Given the description of an element on the screen output the (x, y) to click on. 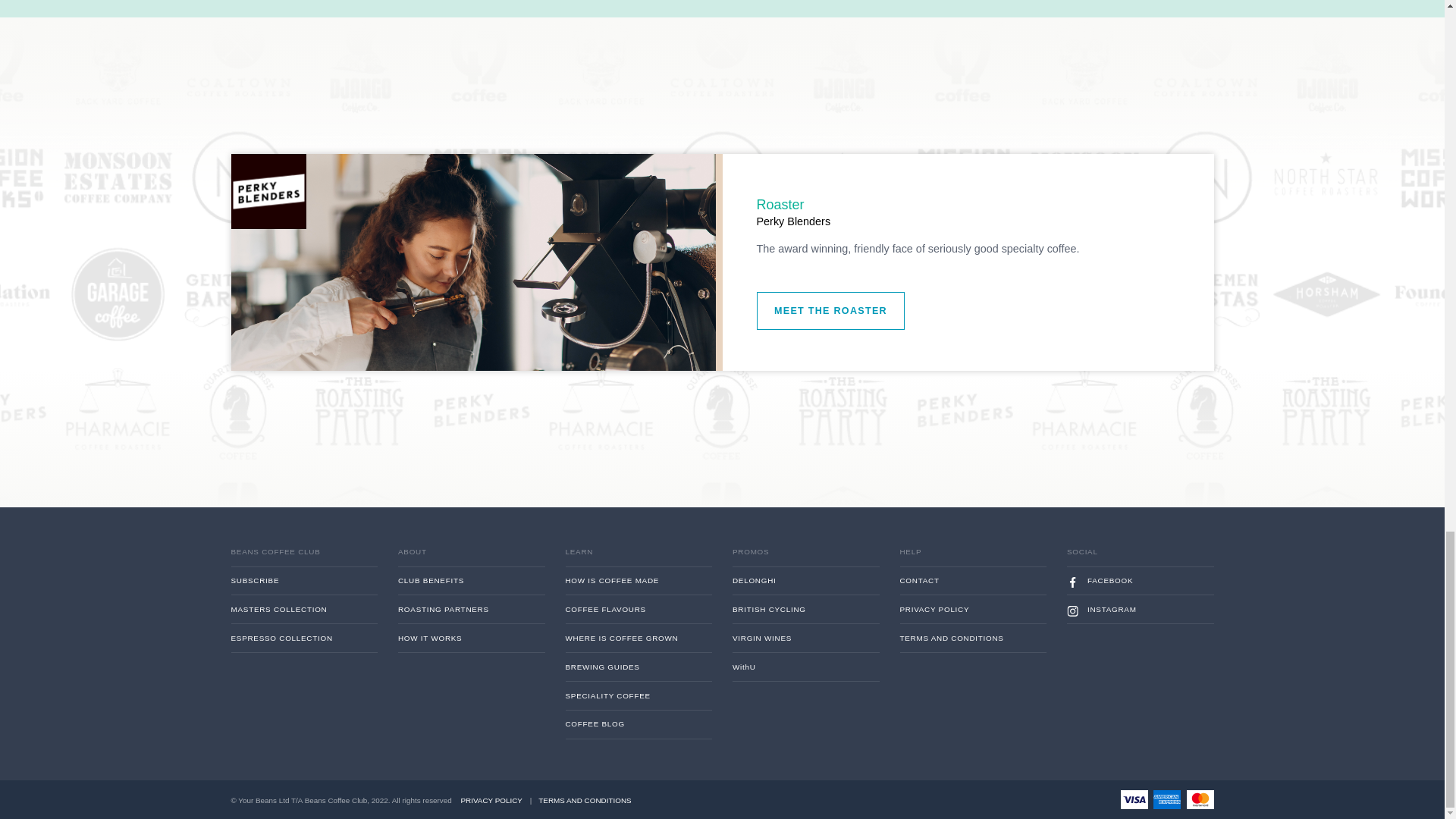
CLUB BENEFITS (523, 810)
MEET THE ROASTER (923, 516)
SUBSCRIBE (337, 810)
HOW IS COFFEE MADE (708, 810)
